Given the description of an element on the screen output the (x, y) to click on. 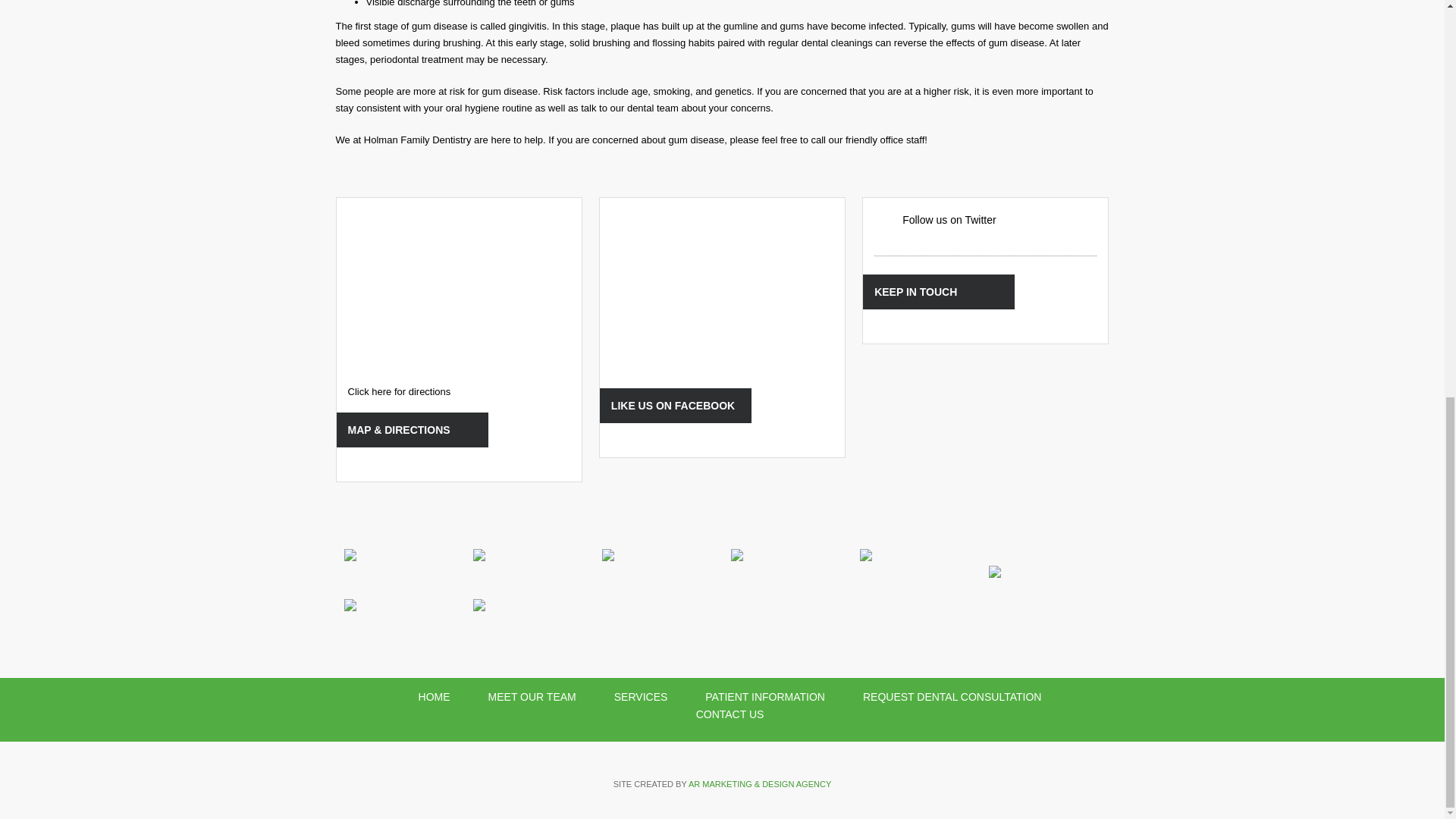
MEET OUR TEAM (532, 696)
SERVICES (640, 696)
HOME (434, 696)
REQUEST DENTAL CONSULTATION (951, 696)
CONTACT US (730, 713)
Click here for directions (398, 391)
PATIENT INFORMATION (764, 696)
